Given the description of an element on the screen output the (x, y) to click on. 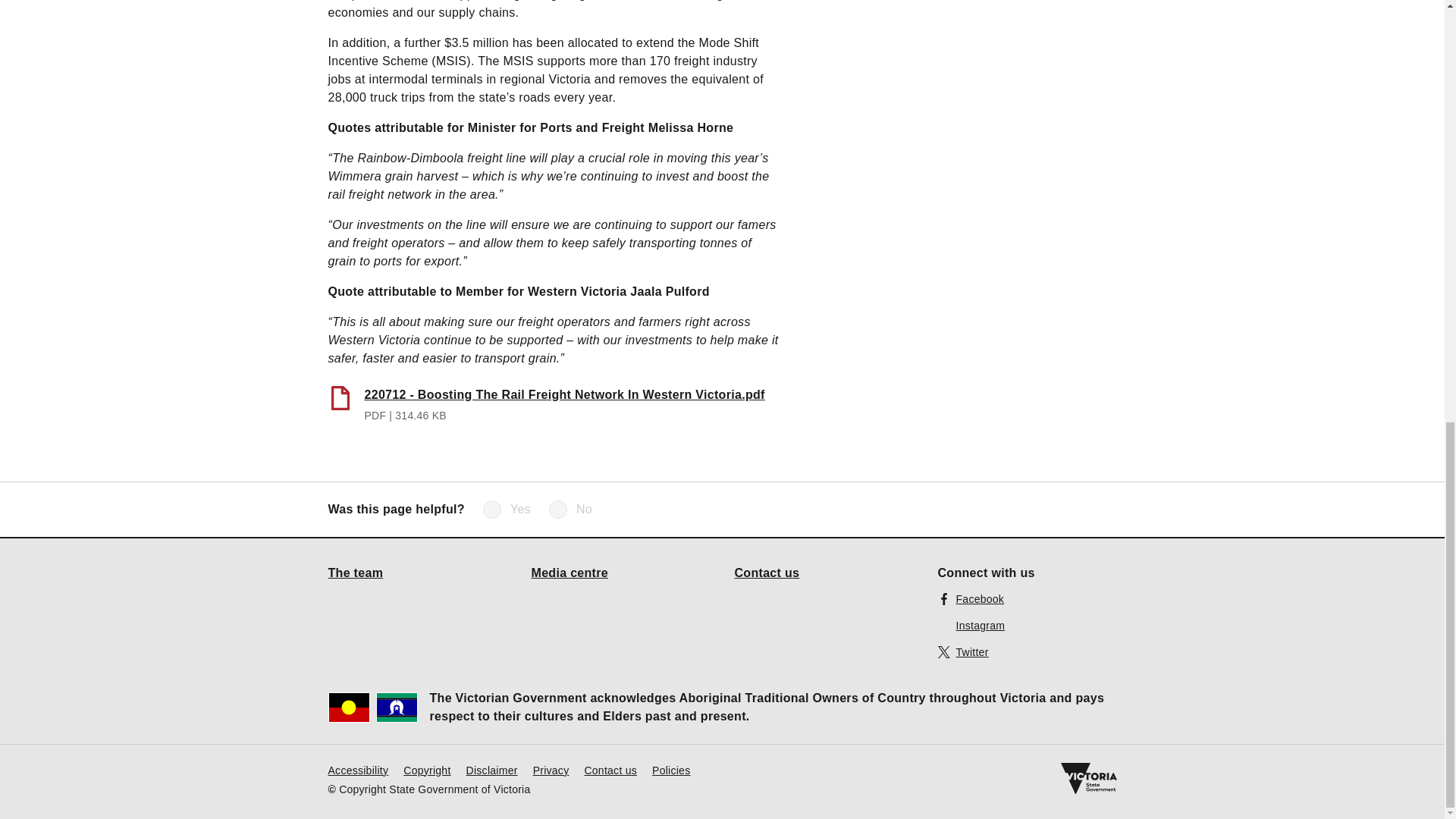
Policies (671, 769)
Contact us (610, 769)
Contact us (766, 572)
Media centre (569, 572)
Accessibility (357, 769)
The team (354, 572)
Copyright (426, 769)
Twitter (962, 651)
Facebook (970, 598)
Privacy (550, 769)
Victoria government home (1087, 778)
Instagram (970, 625)
Disclaimer (491, 769)
